Given the description of an element on the screen output the (x, y) to click on. 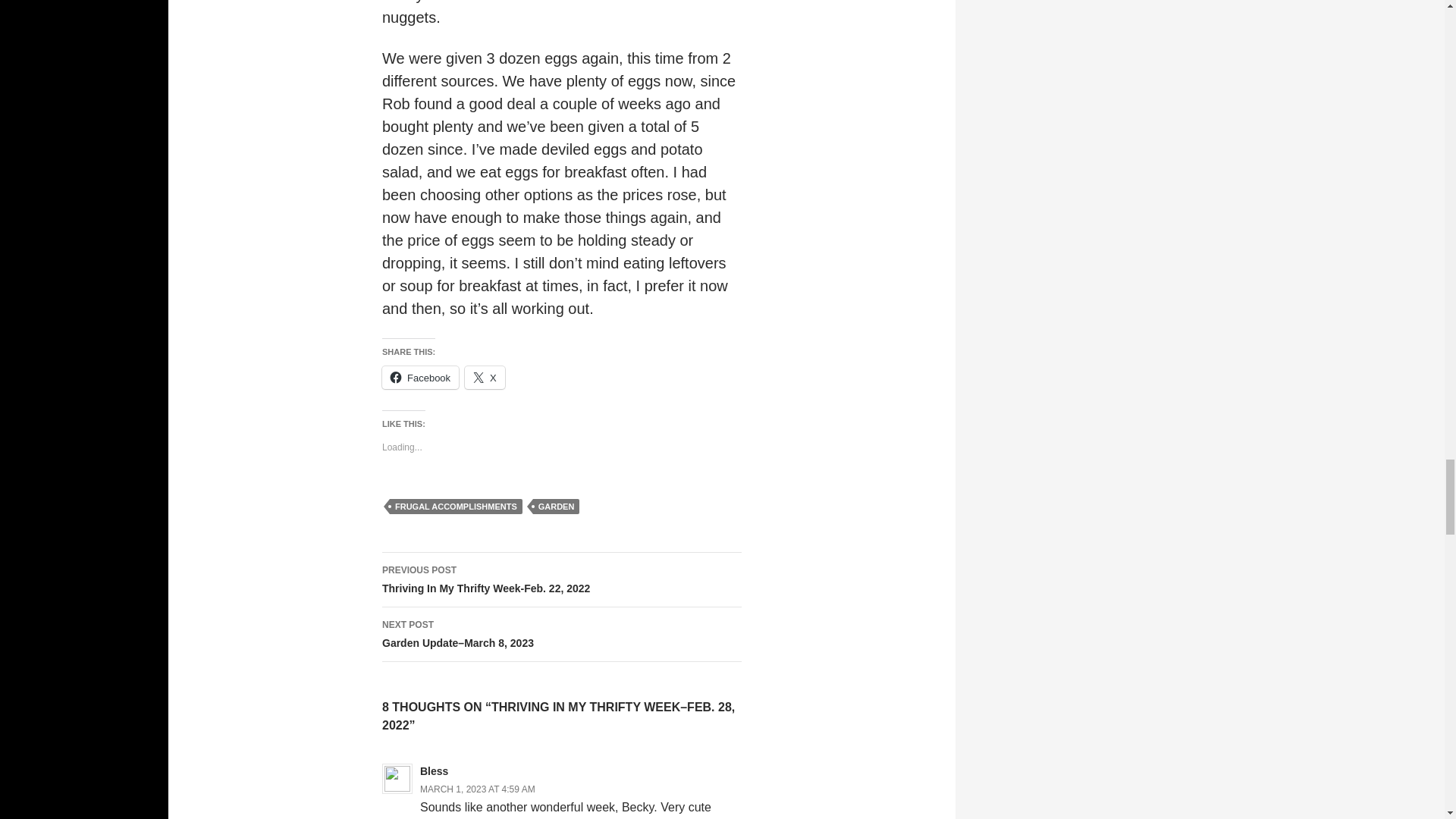
X (484, 377)
GARDEN (555, 506)
MARCH 1, 2023 AT 4:59 AM (477, 788)
Click to share on Facebook (419, 377)
FRUGAL ACCOMPLISHMENTS (456, 506)
Click to share on X (561, 579)
Facebook (484, 377)
